Given the description of an element on the screen output the (x, y) to click on. 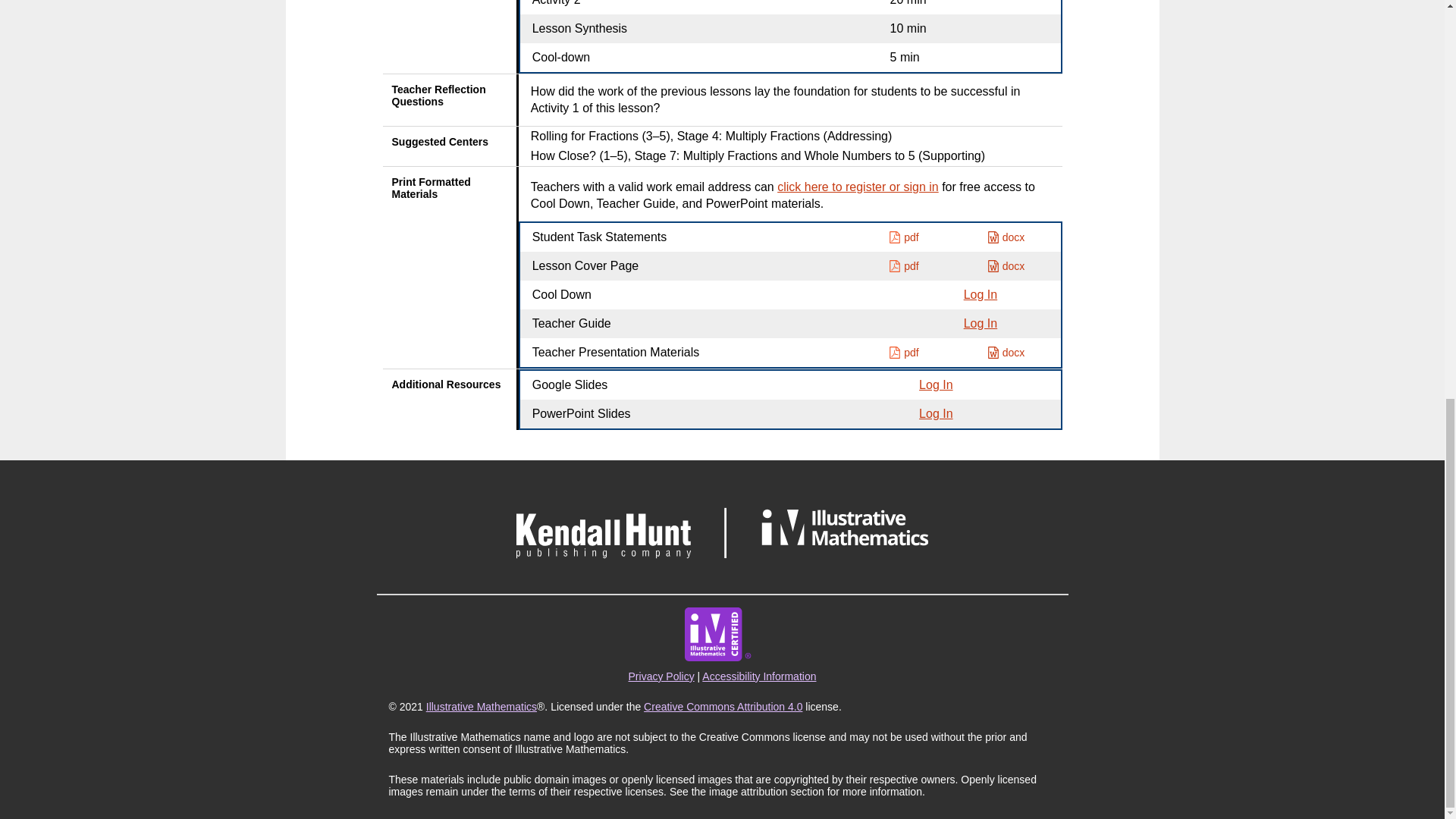
translation missing: en.log in (980, 323)
translation missing: en.log in (935, 413)
translation missing: en.log in (980, 294)
translation missing: en.log in (935, 384)
